Given the description of an element on the screen output the (x, y) to click on. 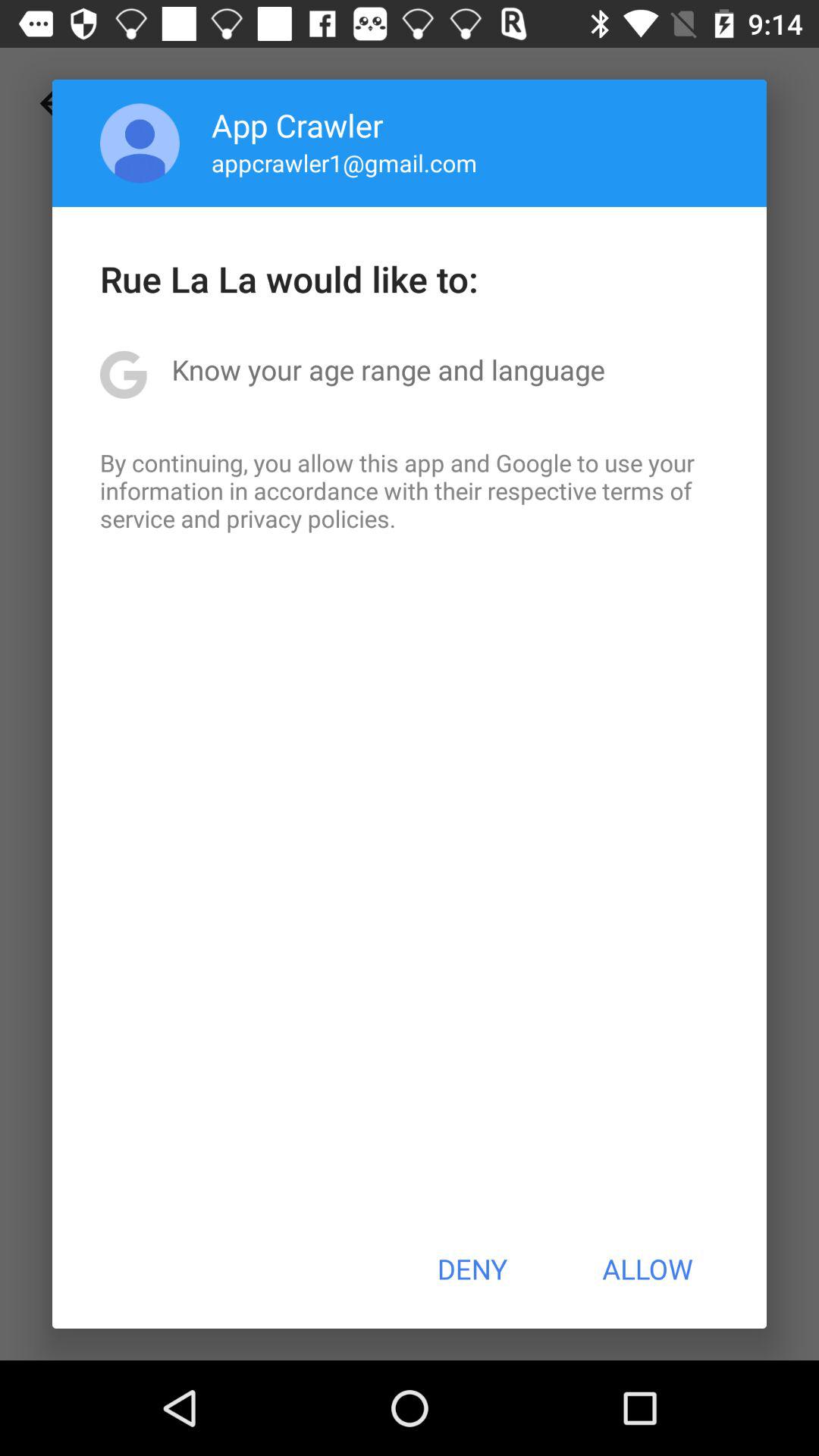
turn on the icon at the bottom (471, 1268)
